Given the description of an element on the screen output the (x, y) to click on. 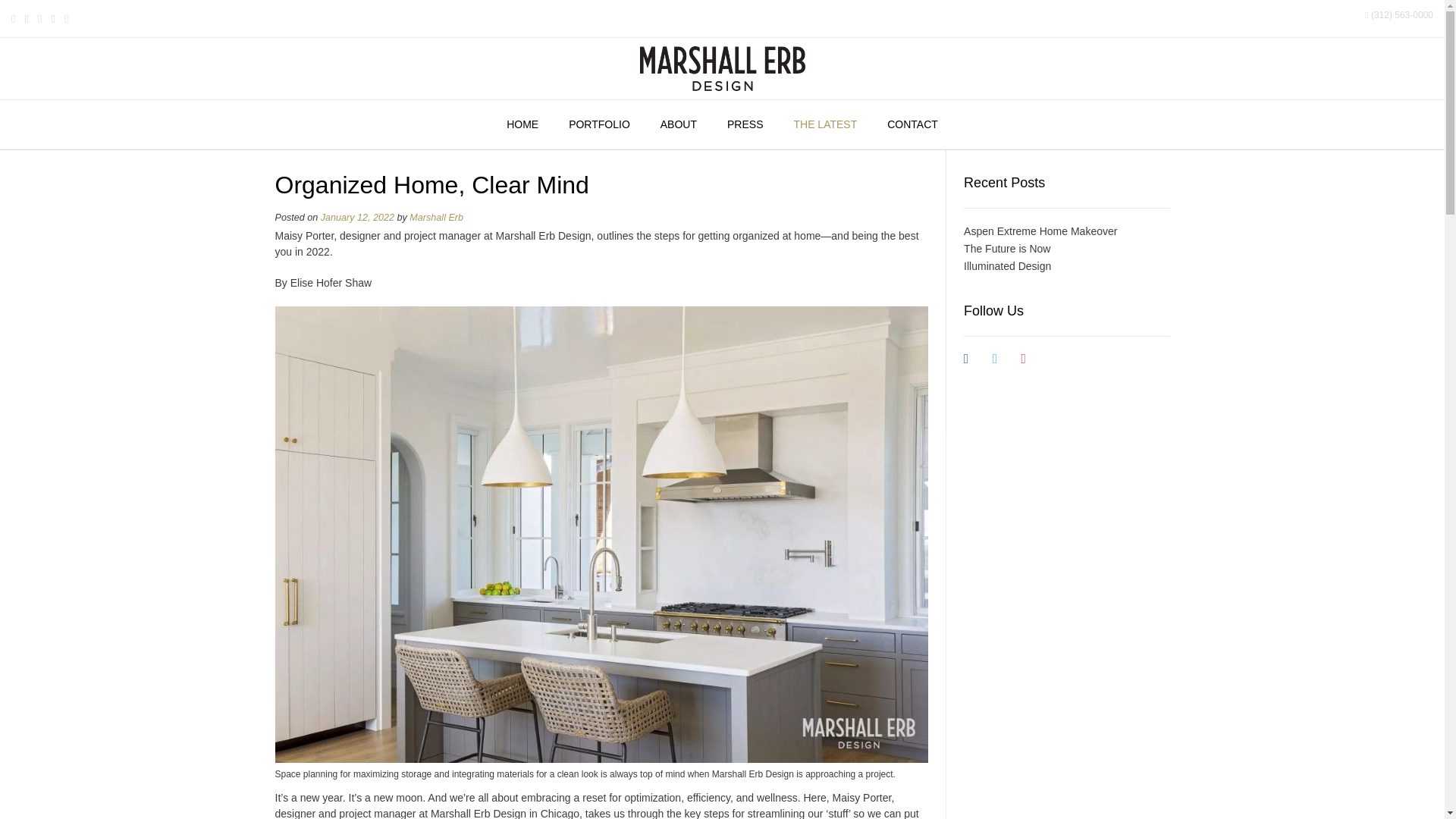
THE LATEST (824, 124)
instagram (1023, 357)
Marshall Erb (436, 217)
Illuminated Design (1007, 265)
google (1052, 357)
pinterest (1081, 357)
Marshall Erb Design (722, 68)
CONTACT (912, 124)
PRESS (744, 124)
